Given the description of an element on the screen output the (x, y) to click on. 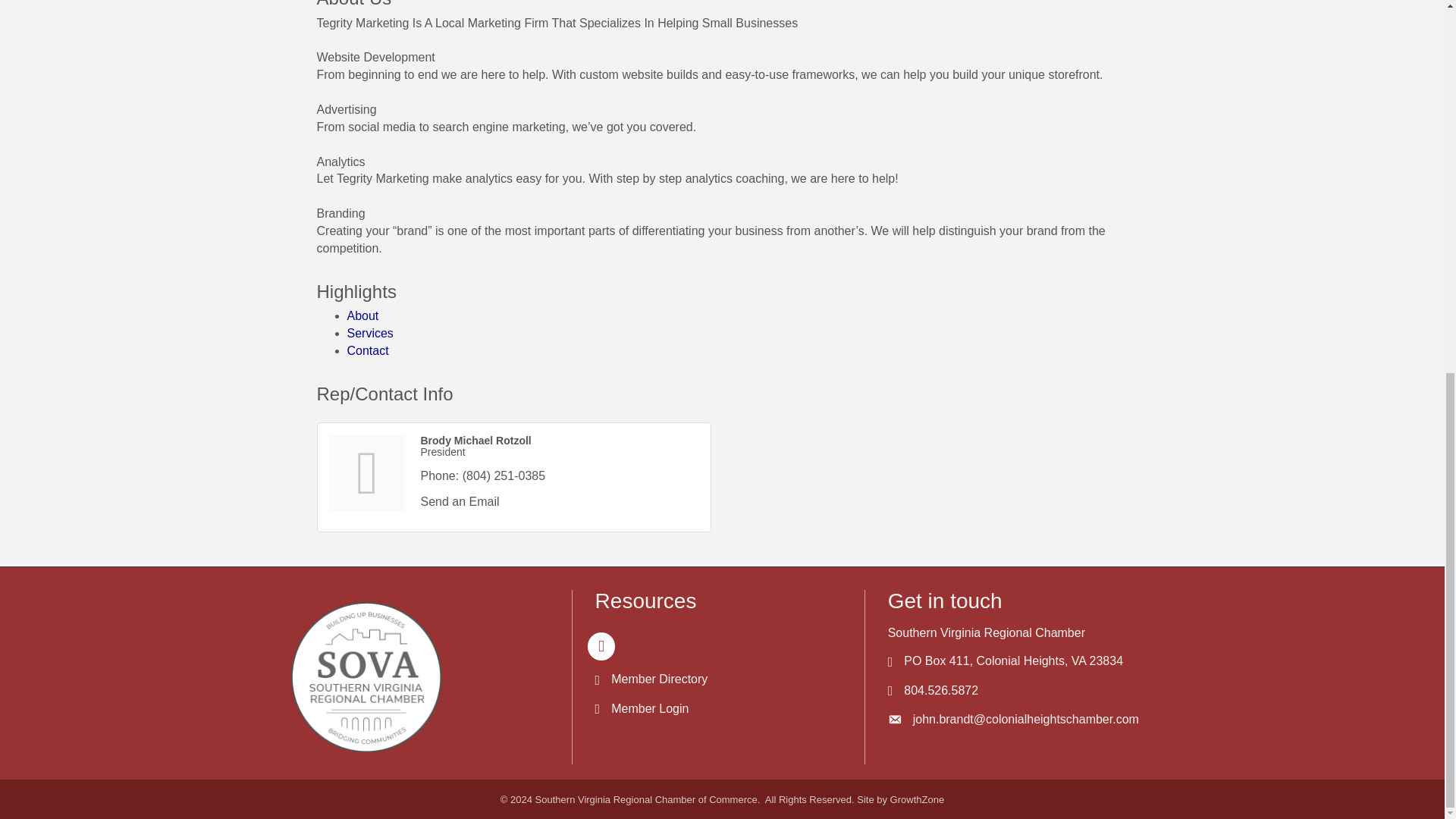
Contact (367, 350)
logo (365, 676)
Services (370, 332)
Send an Email (459, 501)
About (362, 315)
